Given the description of an element on the screen output the (x, y) to click on. 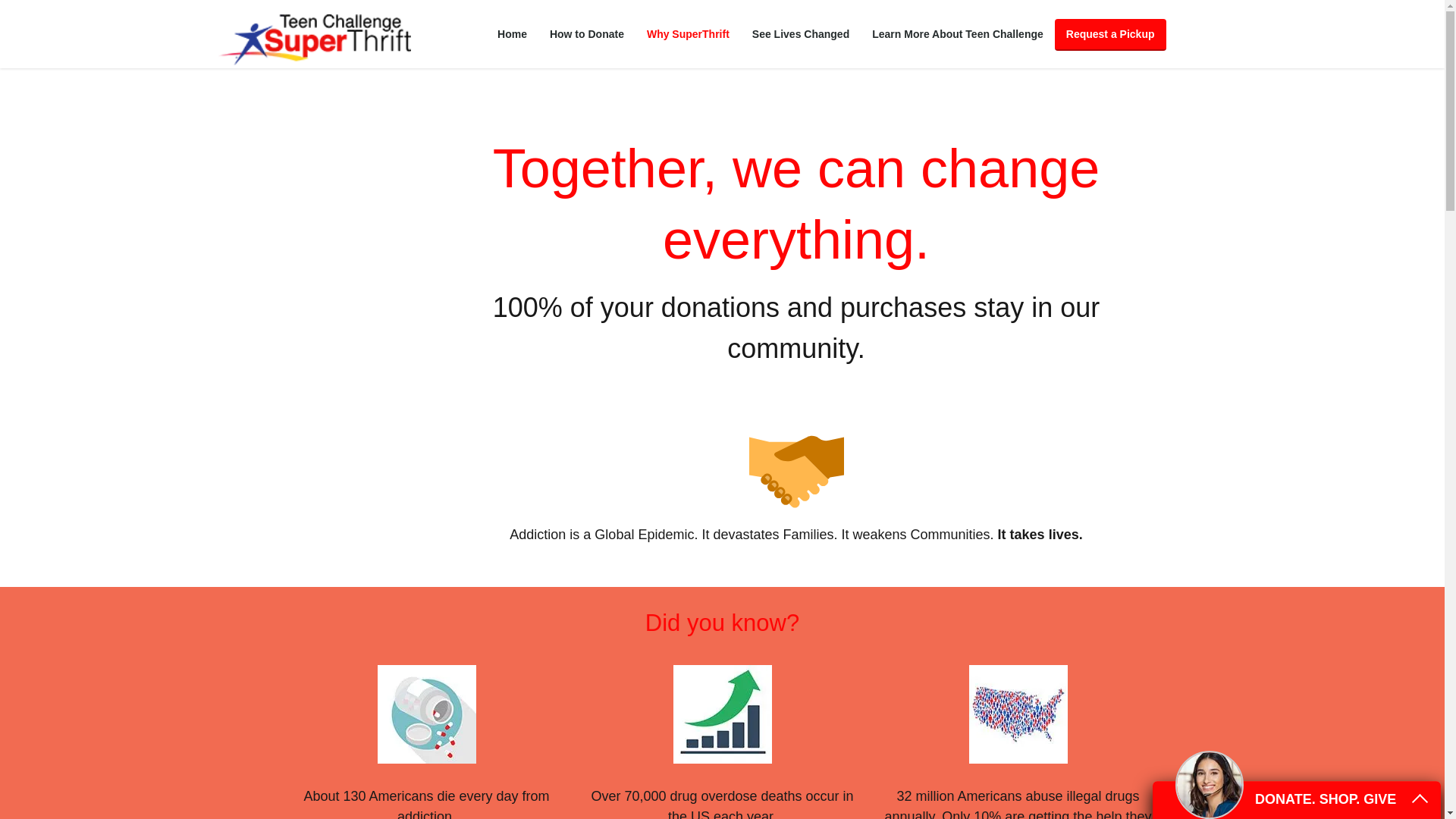
Request a Pickup (1110, 34)
Why SuperThrift (687, 34)
How to Donate (586, 34)
Request a Pickup (1110, 34)
Why SuperThrift (687, 34)
See Lives Changed (800, 34)
Learn More About Teen Challenge (957, 34)
Home (512, 34)
Home (512, 34)
Learn More About Teen Challenge (957, 34)
